Given the description of an element on the screen output the (x, y) to click on. 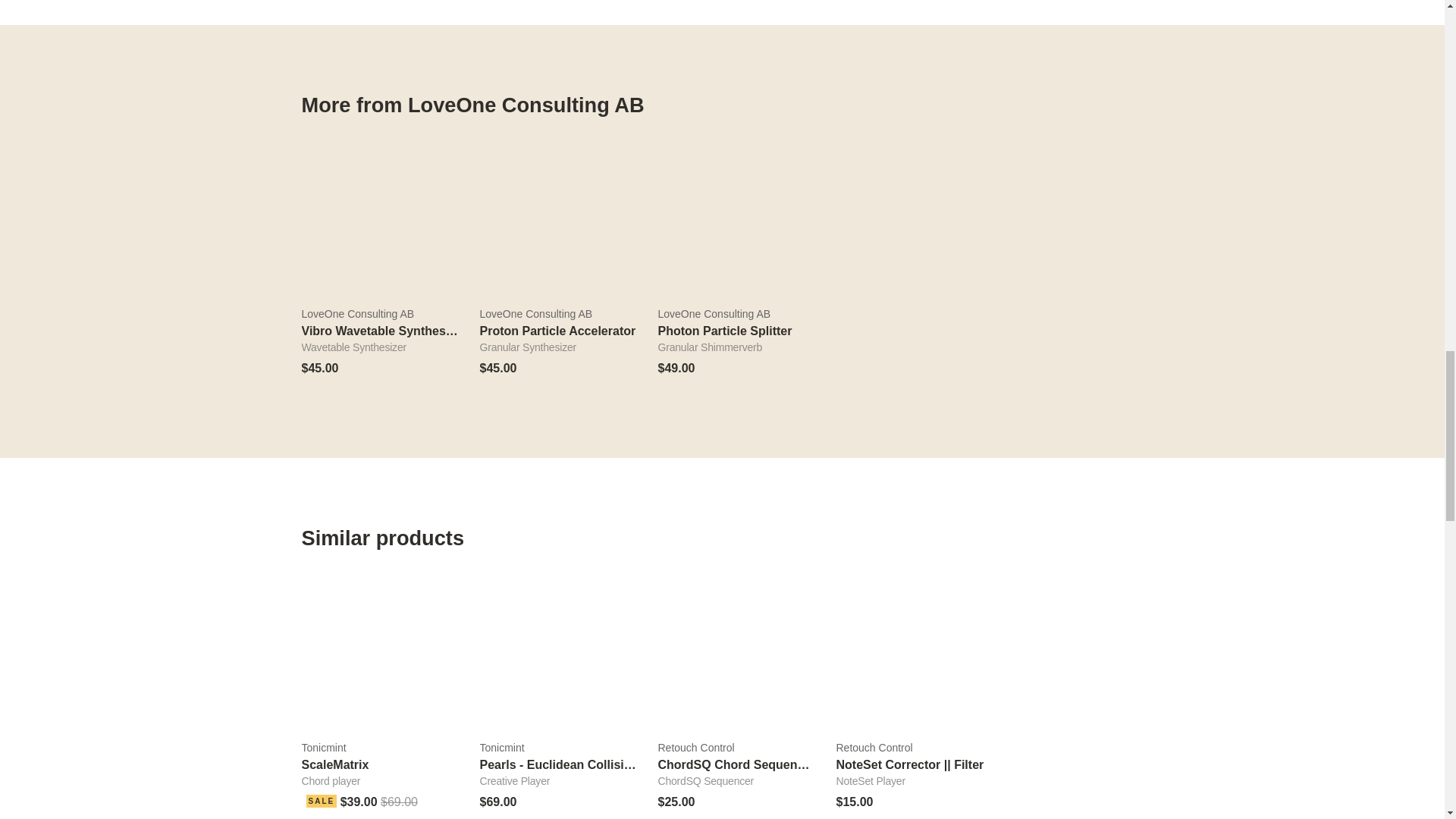
Vibro Wavetable Synthesizer (379, 217)
LoveOne Consulting AB (379, 314)
Pearls - Euclidean Collision Sequencer (591, 764)
Pearls - Euclidean Collision Sequencer (557, 651)
Tonicmint (557, 748)
ScaleMatrix (379, 651)
Photon Particle Splitter (736, 217)
Tonicmint (379, 748)
Vibro Wavetable Synthesizer (384, 330)
ScaleMatrix (335, 764)
LoveOne Consulting AB (557, 314)
LoveOne Consulting AB (736, 314)
ChordSQ Chord Sequencer (736, 651)
Proton Particle Accelerator (557, 217)
Proton Particle Accelerator (556, 330)
